Given the description of an element on the screen output the (x, y) to click on. 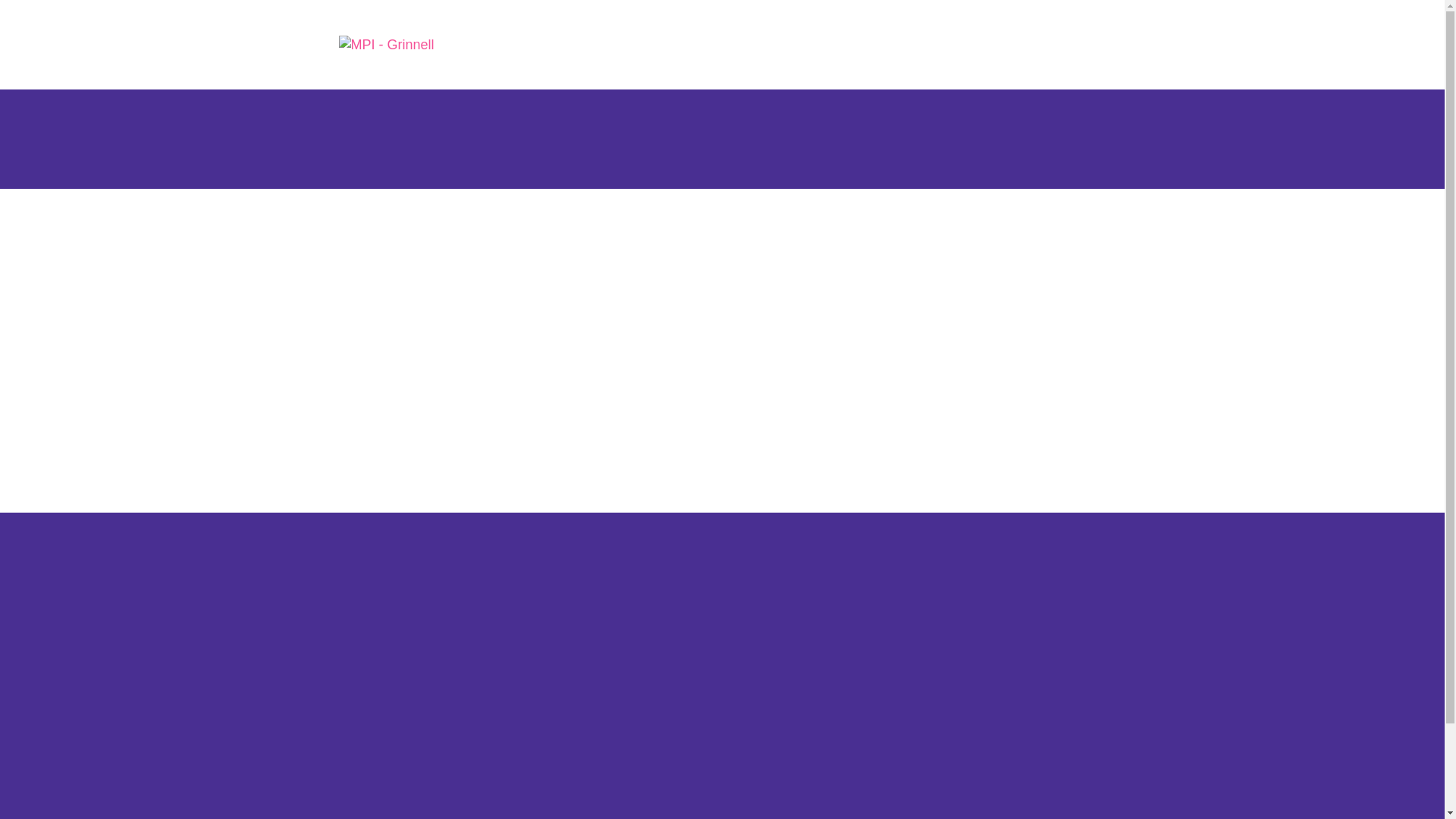
MPI - Grinnell (404, 45)
